Given the description of an element on the screen output the (x, y) to click on. 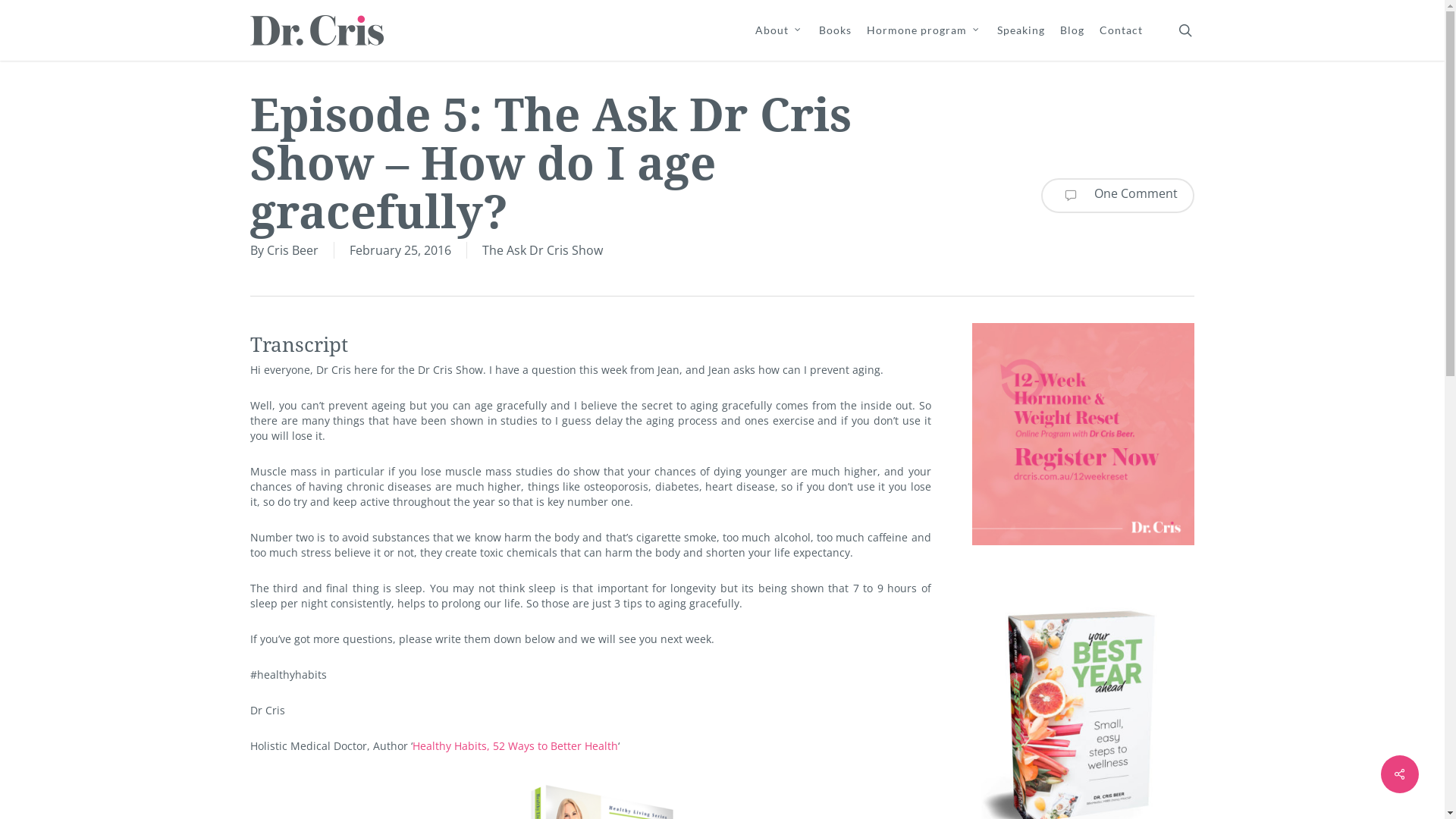
Healthy Habits, 52 Ways to Better Health Element type: text (515, 745)
About Element type: text (779, 30)
0 Element type: text (1210, 37)
One Comment Element type: text (1117, 194)
Books Element type: text (835, 30)
Hormone program Element type: text (924, 30)
Blog Element type: text (1072, 30)
Speaking Element type: text (1020, 30)
The Ask Dr Cris Show Element type: text (542, 249)
Cris Beer Element type: text (292, 249)
Contact Element type: text (1121, 30)
search Element type: text (1185, 29)
